Given the description of an element on the screen output the (x, y) to click on. 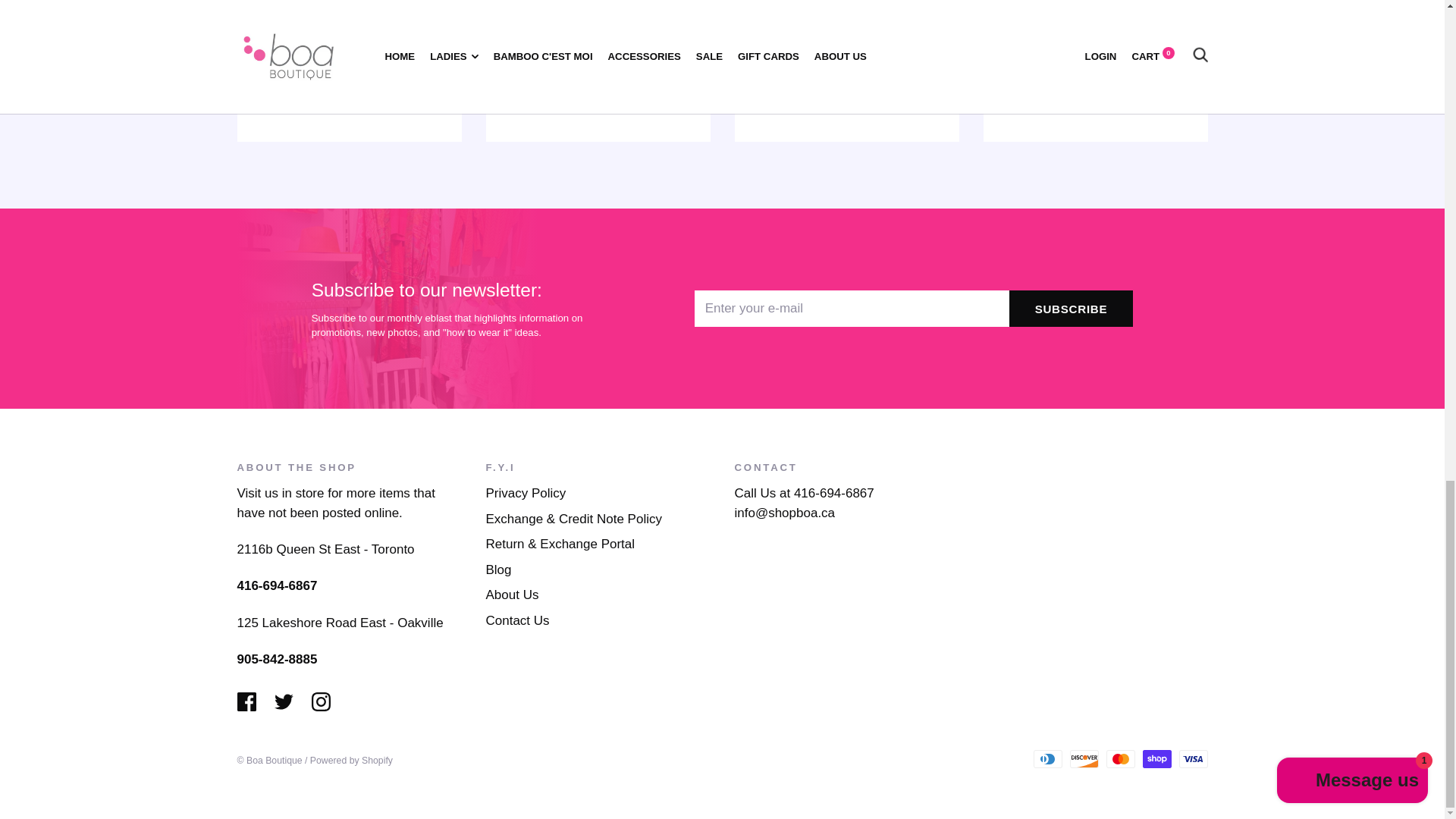
Visa (1192, 759)
Twitter (284, 701)
Discover (1082, 759)
Facebook (245, 701)
Mastercard (1119, 759)
Subscribe (1071, 308)
Shop Pay (1155, 759)
Instagram (320, 701)
Diners Club (1046, 759)
